Given the description of an element on the screen output the (x, y) to click on. 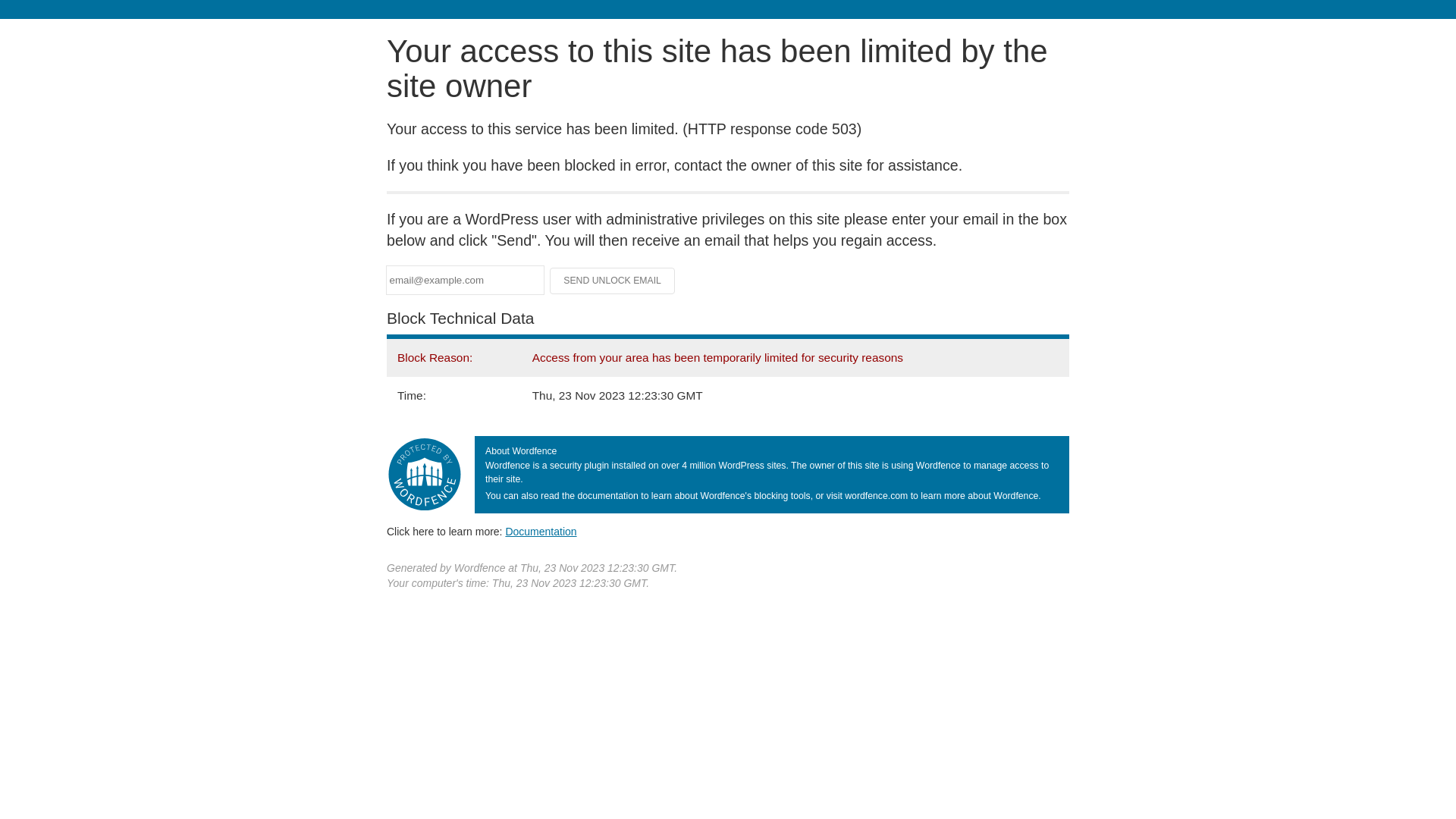
Documentation
(opens in new tab) Element type: text (540, 531)
Send Unlock Email Element type: text (612, 280)
